Given the description of an element on the screen output the (x, y) to click on. 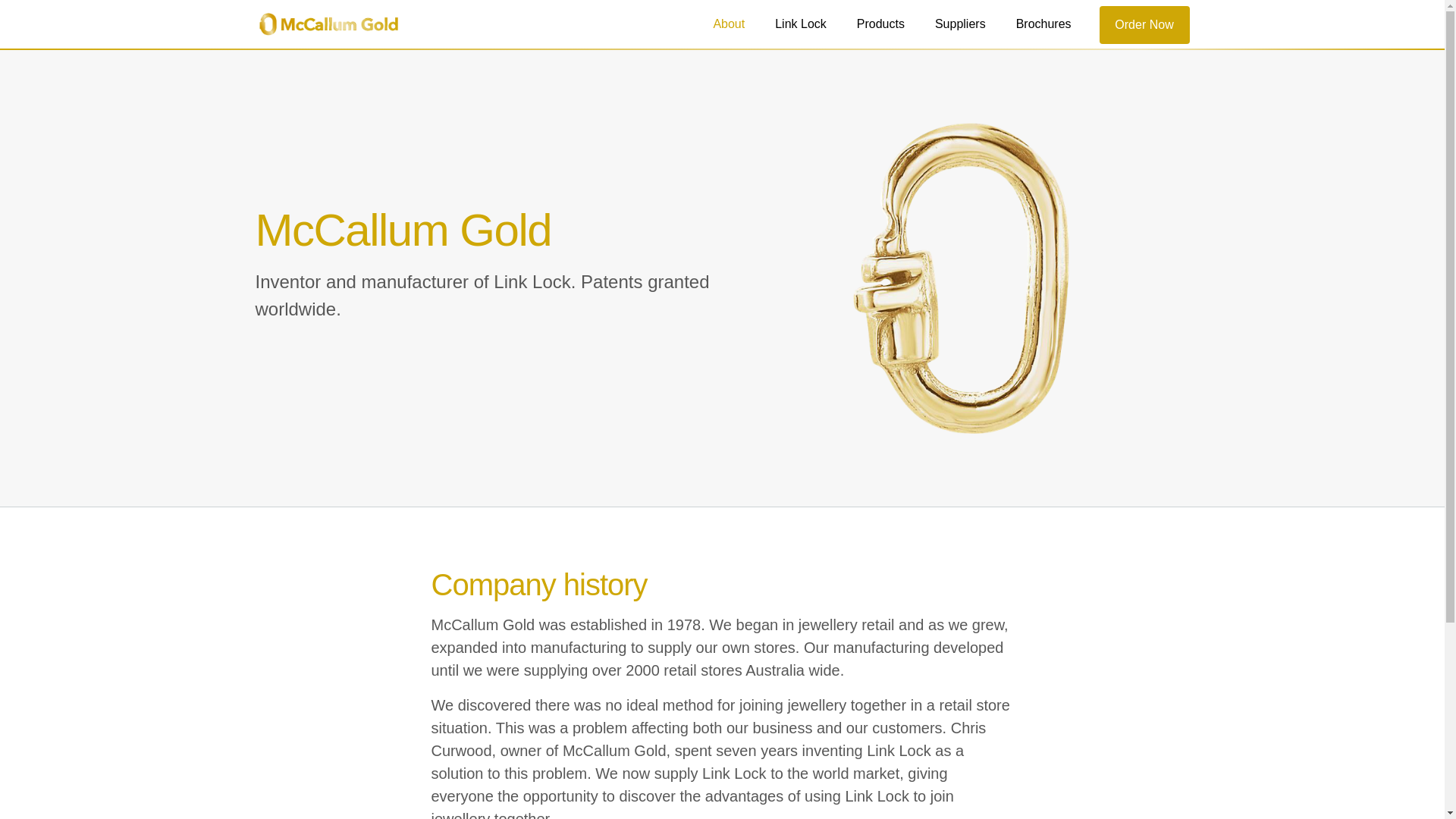
Brochures Element type: text (1043, 24)
Order Now Element type: text (1144, 24)
Products Element type: text (880, 24)
About Element type: text (728, 24)
Suppliers Element type: text (960, 24)
Link Lock Element type: text (800, 24)
